Given the description of an element on the screen output the (x, y) to click on. 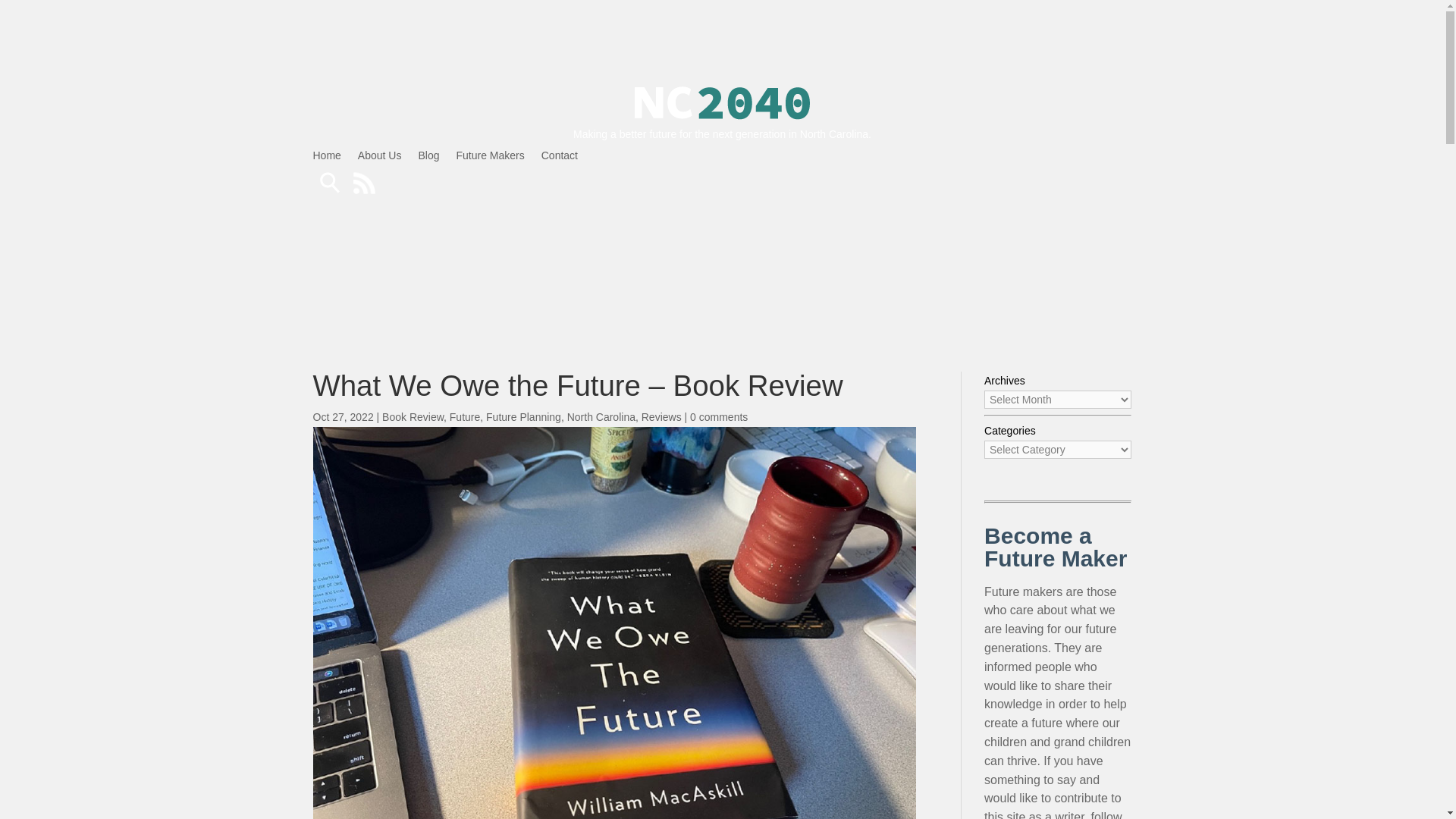
About Us (379, 158)
Future (464, 417)
Blog (428, 158)
Home (326, 158)
Contact (559, 158)
North Carolina (600, 417)
Future Planning (523, 417)
Book Review (412, 417)
Future Makers (489, 158)
